Given the description of an element on the screen output the (x, y) to click on. 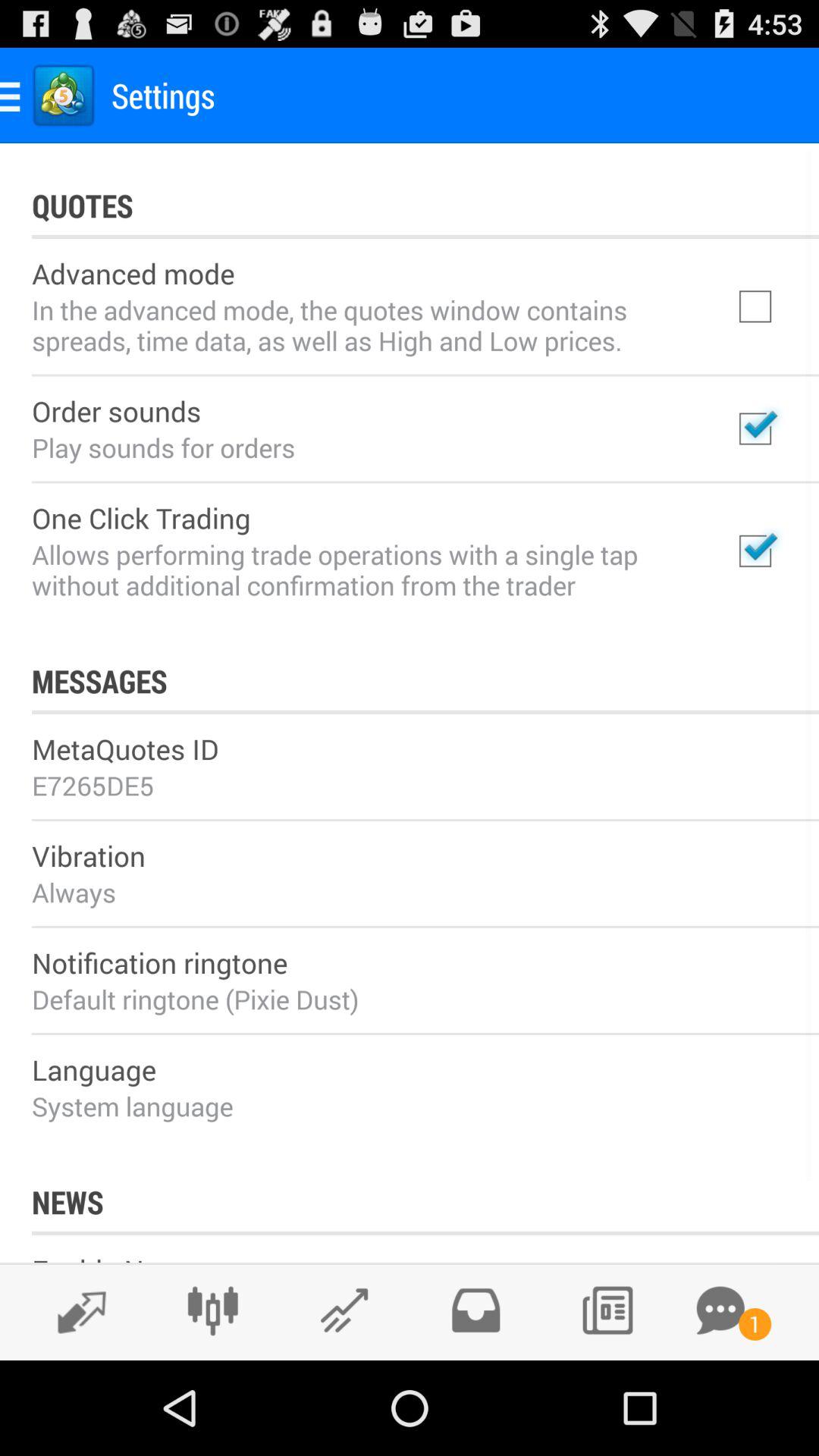
chat (720, 1310)
